Given the description of an element on the screen output the (x, y) to click on. 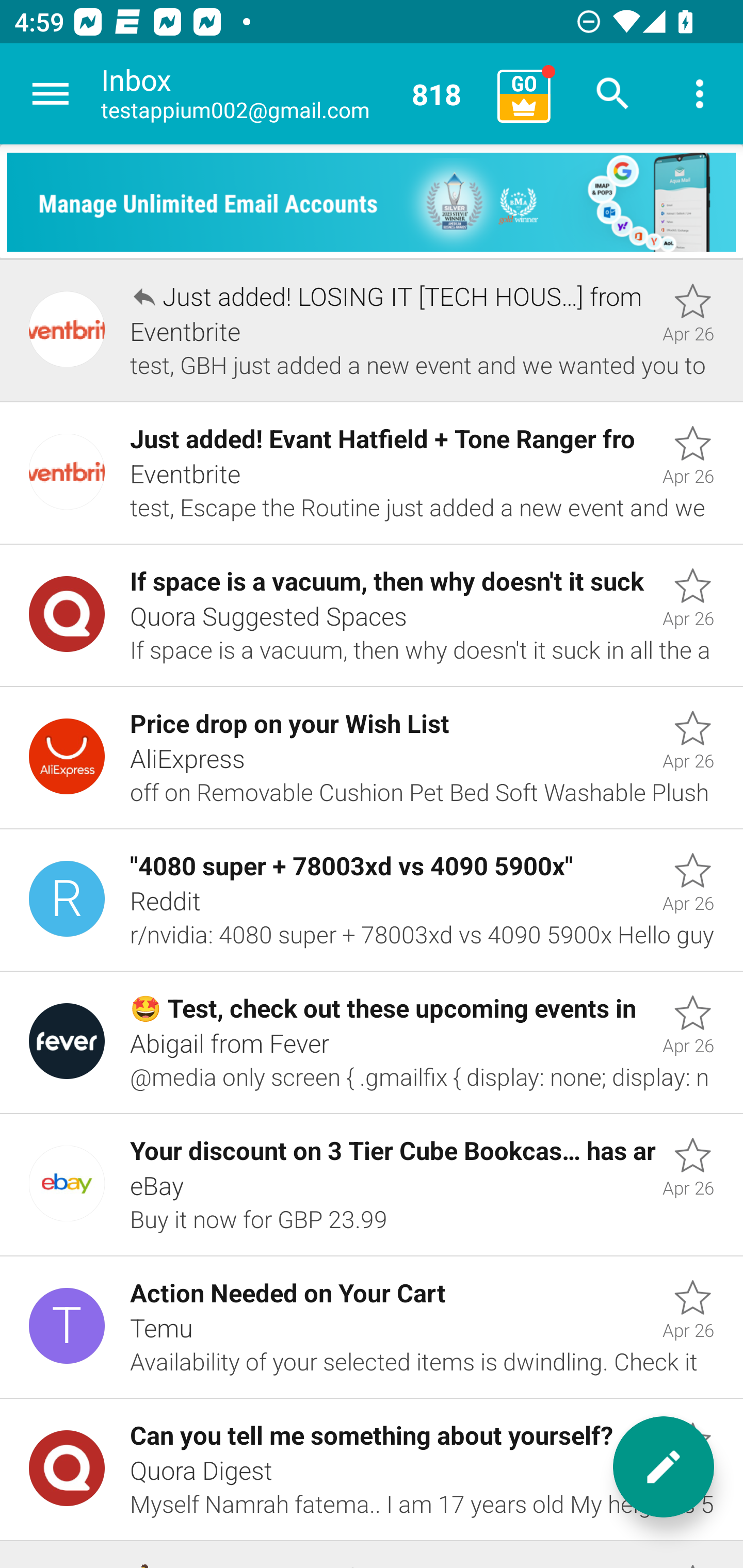
Navigate up (50, 93)
Inbox testappium002@gmail.com 818 (291, 93)
Search (612, 93)
More options (699, 93)
New message (663, 1466)
